Given the description of an element on the screen output the (x, y) to click on. 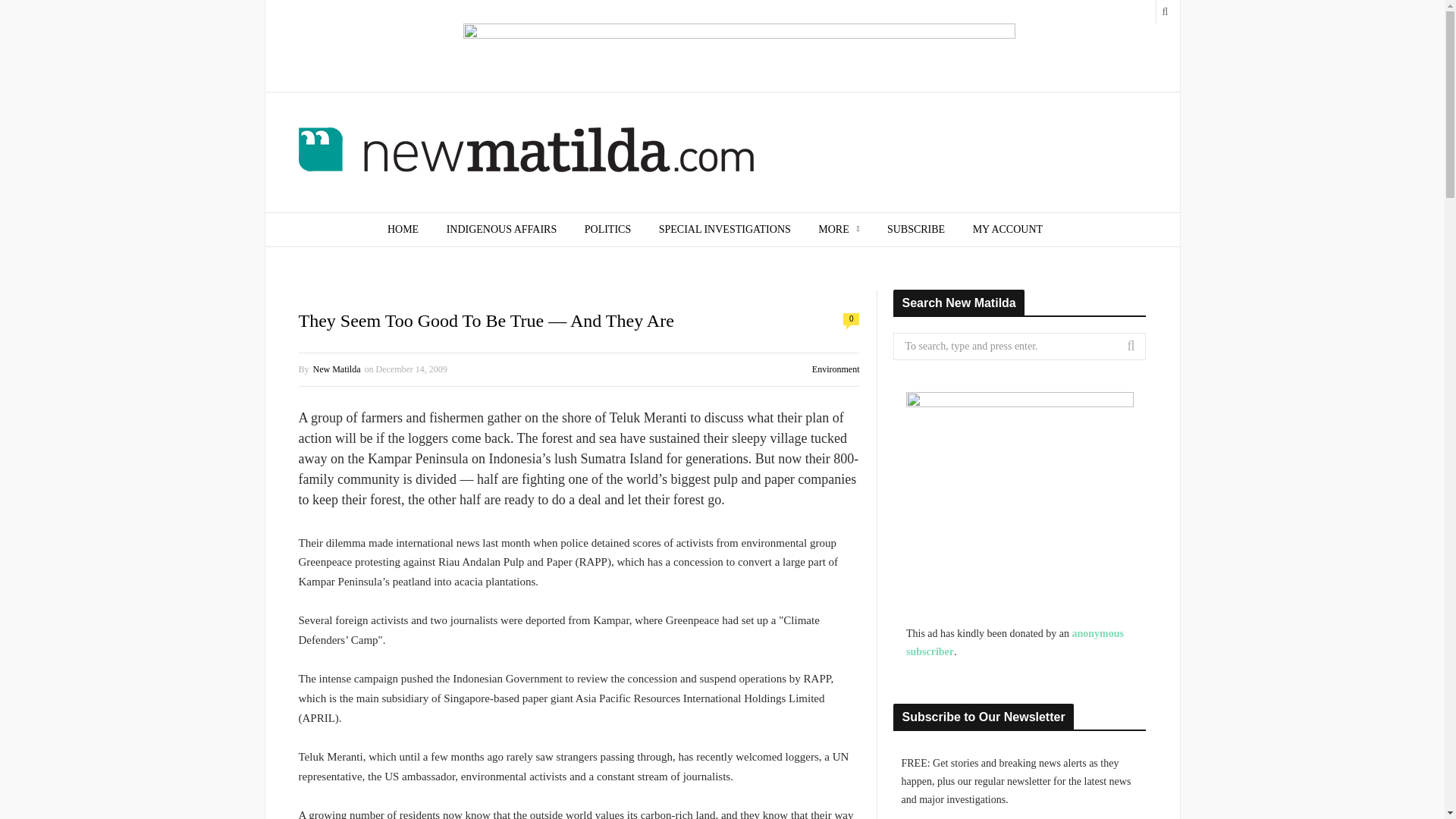
SPECIAL INVESTIGATIONS (725, 229)
MY ACCOUNT (1008, 229)
HOME (403, 229)
POLITICS (607, 229)
New Matilda (337, 368)
Posts by New Matilda (337, 368)
SUBSCRIBE (915, 229)
New Matilda (526, 152)
Environment (836, 368)
INDIGENOUS AFFAIRS (501, 229)
